Given the description of an element on the screen output the (x, y) to click on. 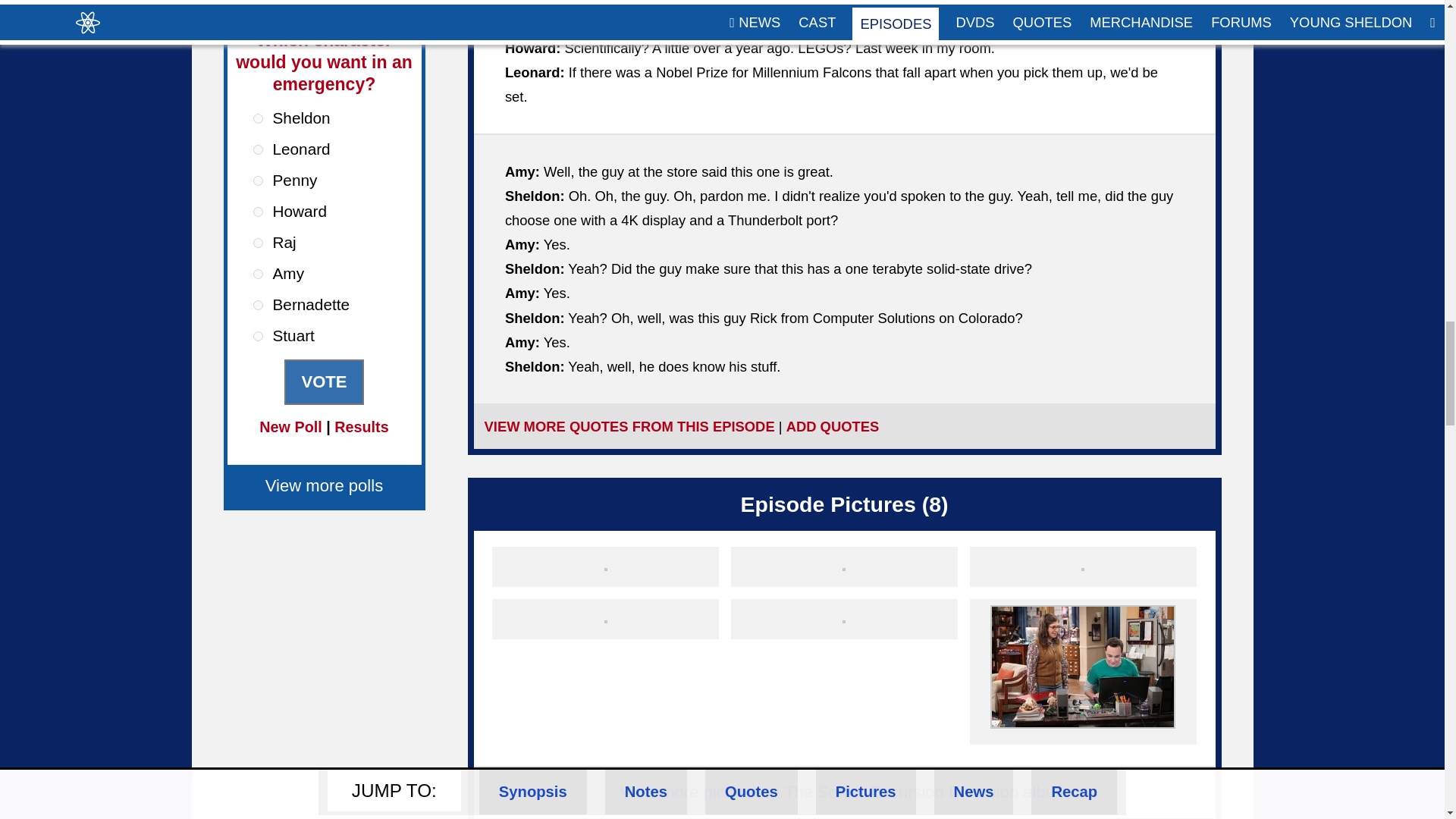
6 (258, 274)
3 (258, 180)
2 (258, 149)
5 (258, 243)
4 (258, 212)
7 (258, 305)
8 (258, 336)
Vote (322, 381)
1 (258, 118)
